Given the description of an element on the screen output the (x, y) to click on. 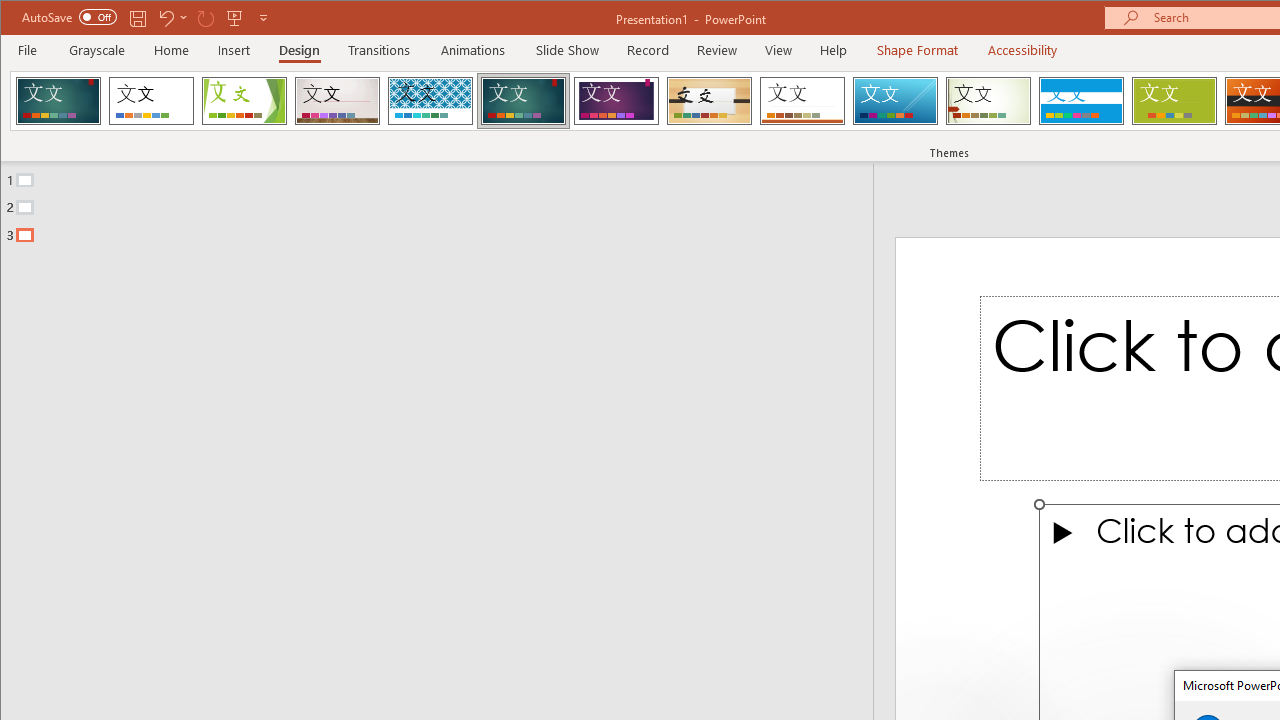
Ion Boardroom (616, 100)
Basis (1174, 100)
